Given the description of an element on the screen output the (x, y) to click on. 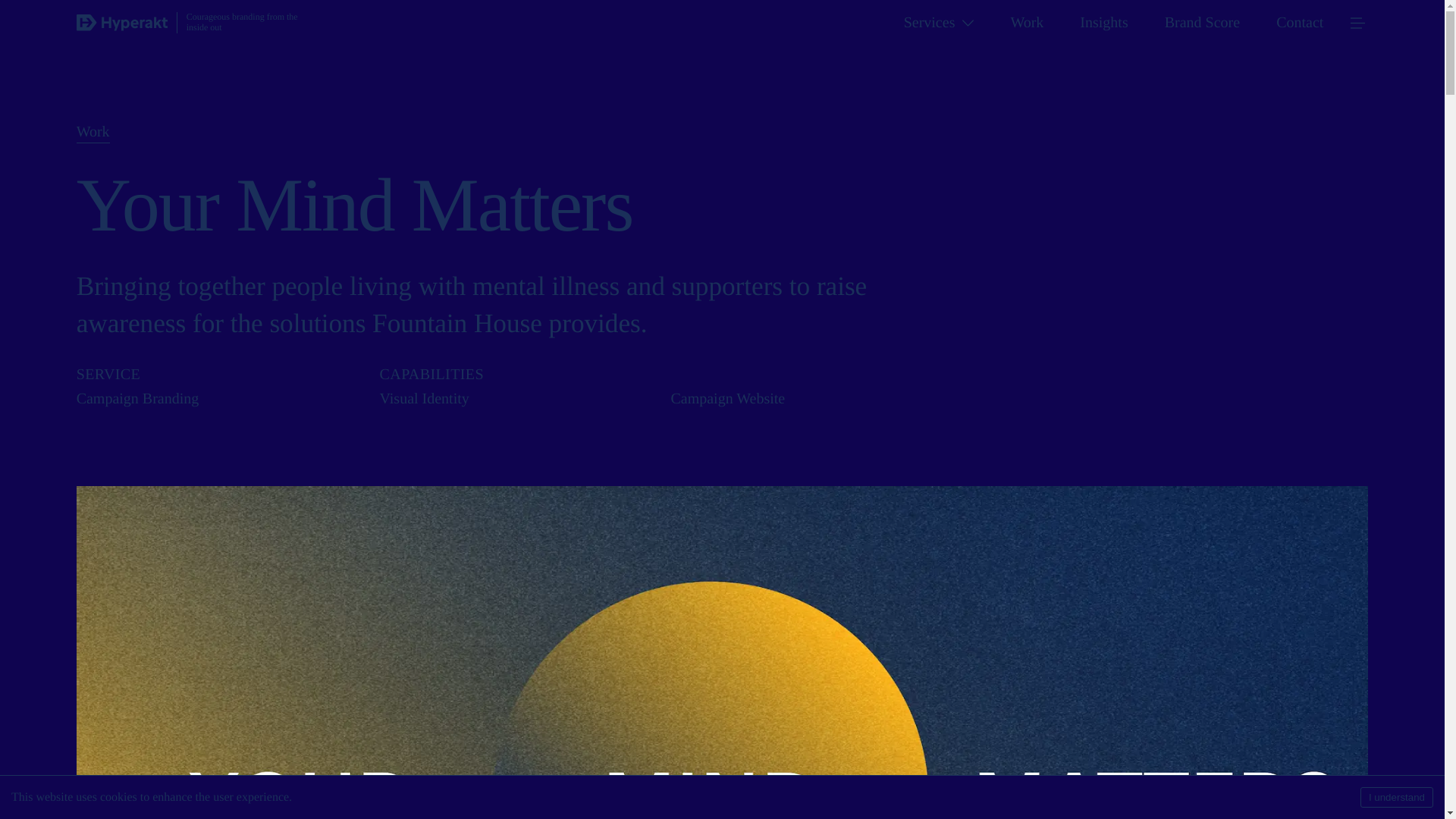
Work (1026, 22)
Work (93, 132)
Hyperakt (122, 22)
Visual Identity (424, 398)
Contact (1299, 22)
Insights (1103, 22)
Campaign Branding (216, 398)
Campaign Website (726, 398)
Services (929, 22)
Brand Score (1202, 22)
Hyperakt (122, 22)
